Given the description of an element on the screen output the (x, y) to click on. 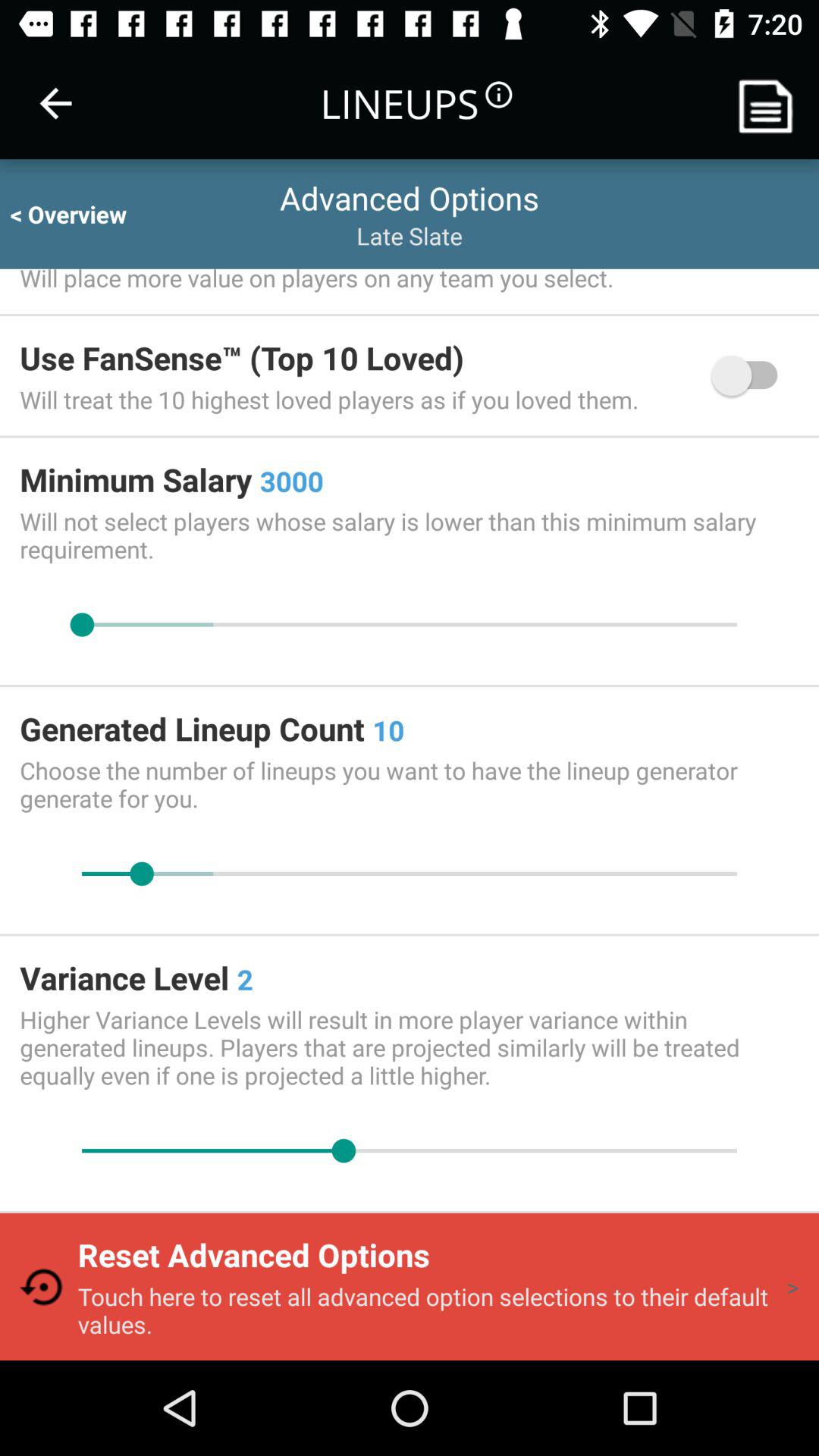
adjust variance level (409, 1150)
